Given the description of an element on the screen output the (x, y) to click on. 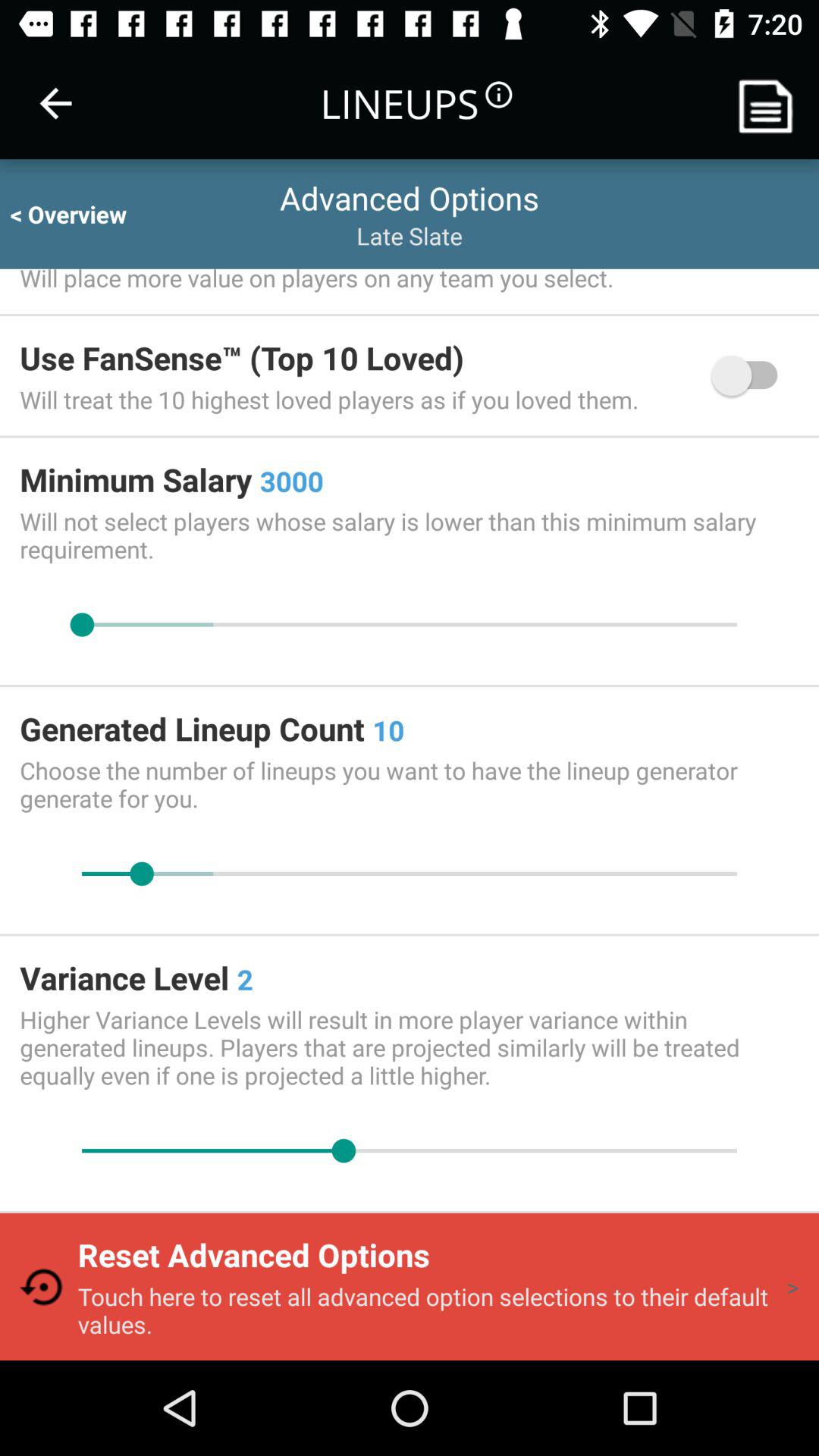
adjust variance level (409, 1150)
